Given the description of an element on the screen output the (x, y) to click on. 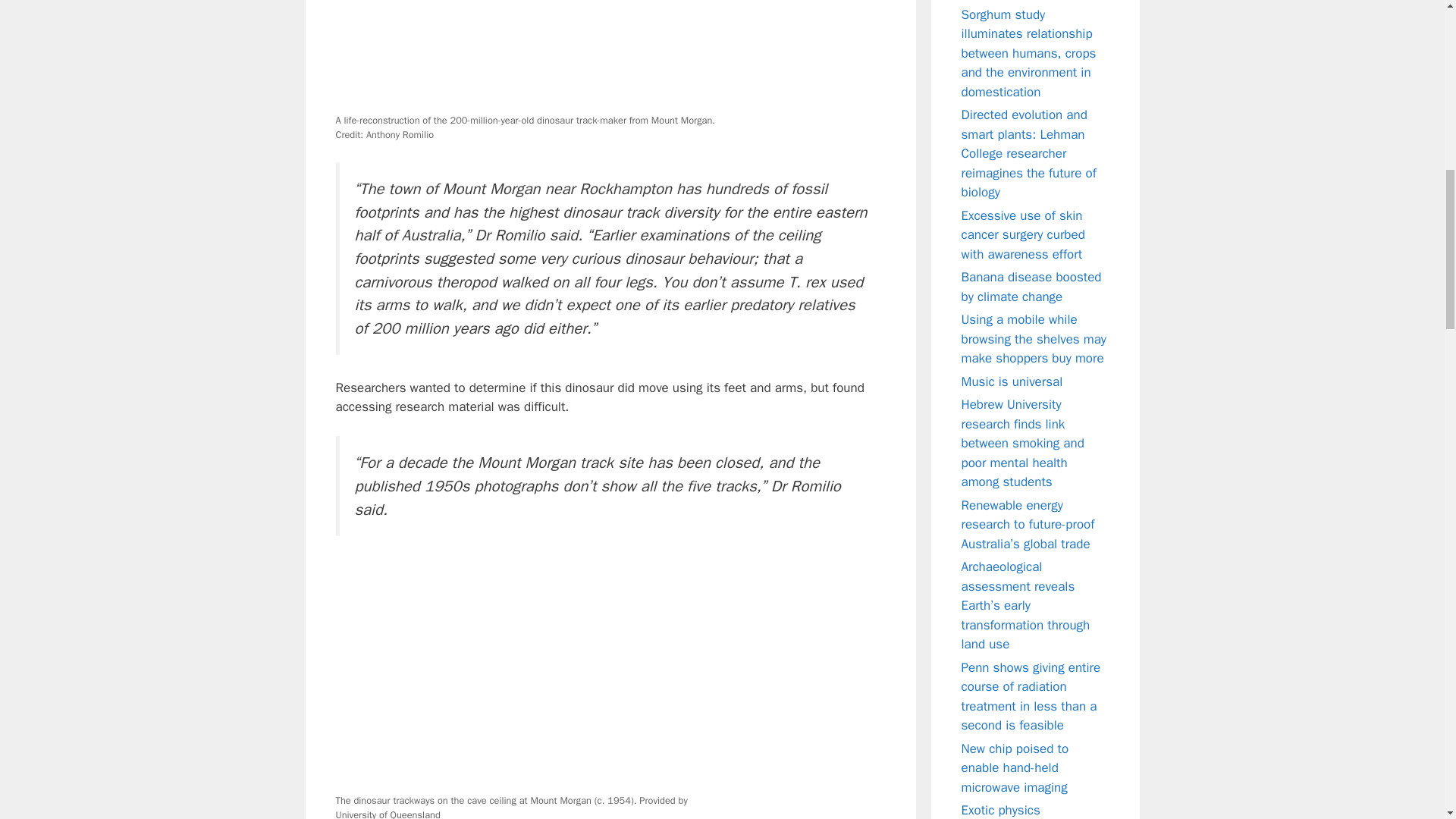
Banana disease boosted by climate change (1031, 286)
New chip poised to enable hand-held microwave imaging (1014, 767)
Music is universal (1011, 381)
Exotic physics phenomenon is observed for first time (1031, 810)
